Given the description of an element on the screen output the (x, y) to click on. 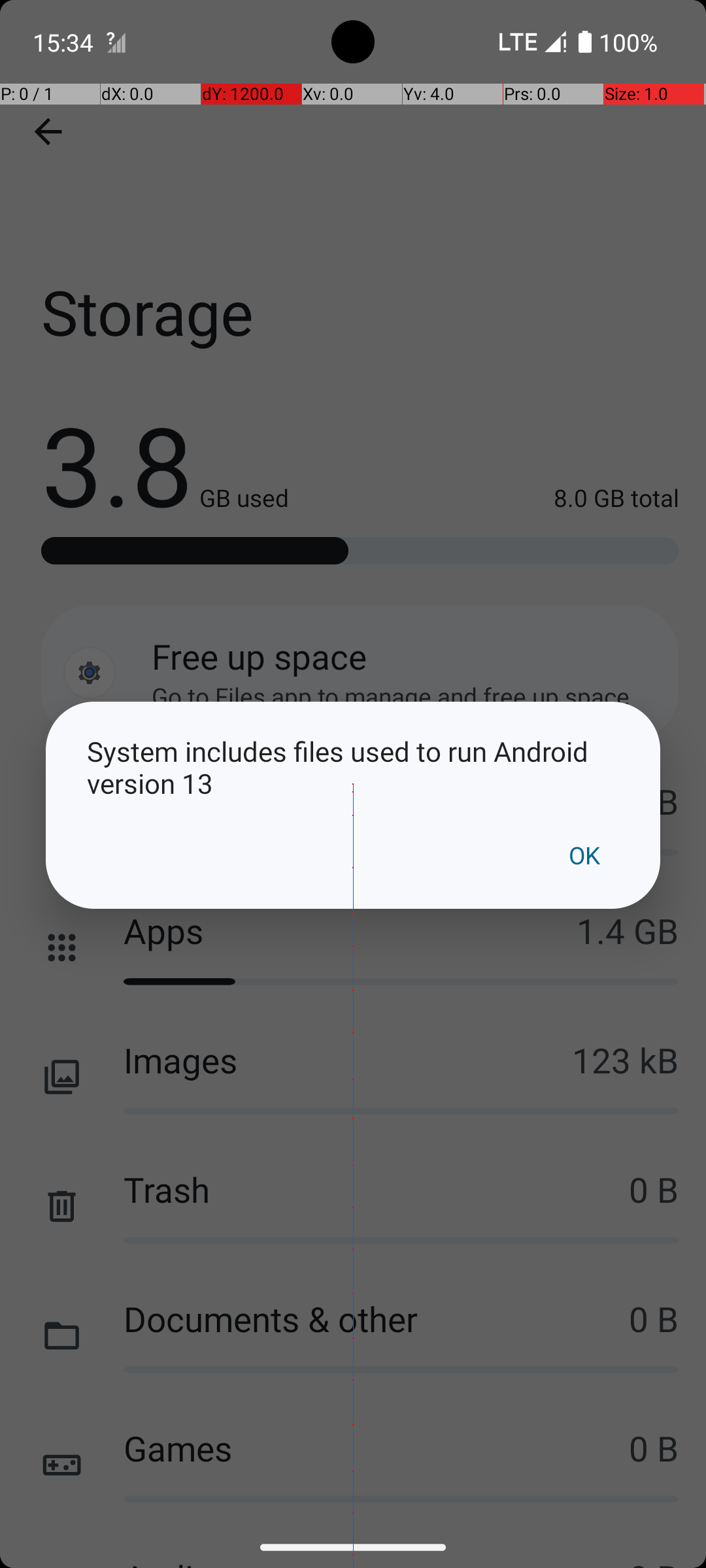
System includes files used to run Android version 13 Element type: android.widget.TextView (352, 766)
